Given the description of an element on the screen output the (x, y) to click on. 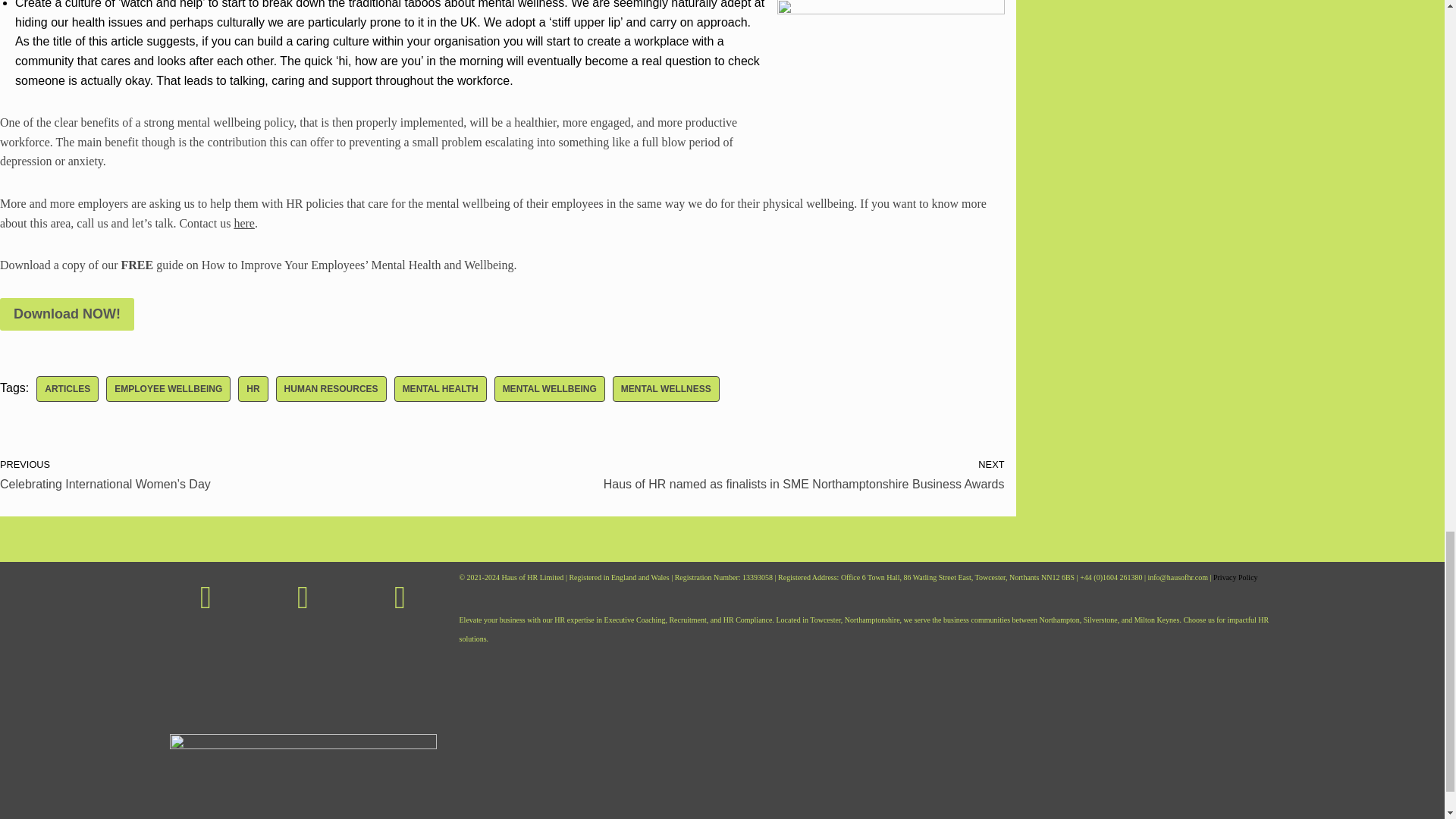
Mental Health (440, 388)
Get in touch (243, 223)
Mental Wellbeing (550, 388)
Human Resources (331, 388)
Employee Wellbeing (168, 388)
Mental Wellness (665, 388)
Articles (67, 388)
HR (252, 388)
